Given the description of an element on the screen output the (x, y) to click on. 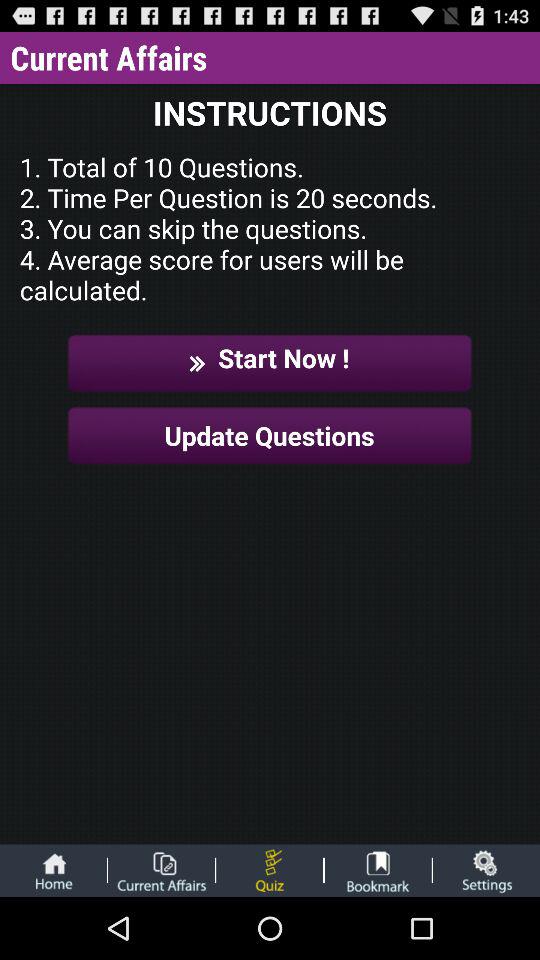
open settings (486, 870)
